Given the description of an element on the screen output the (x, y) to click on. 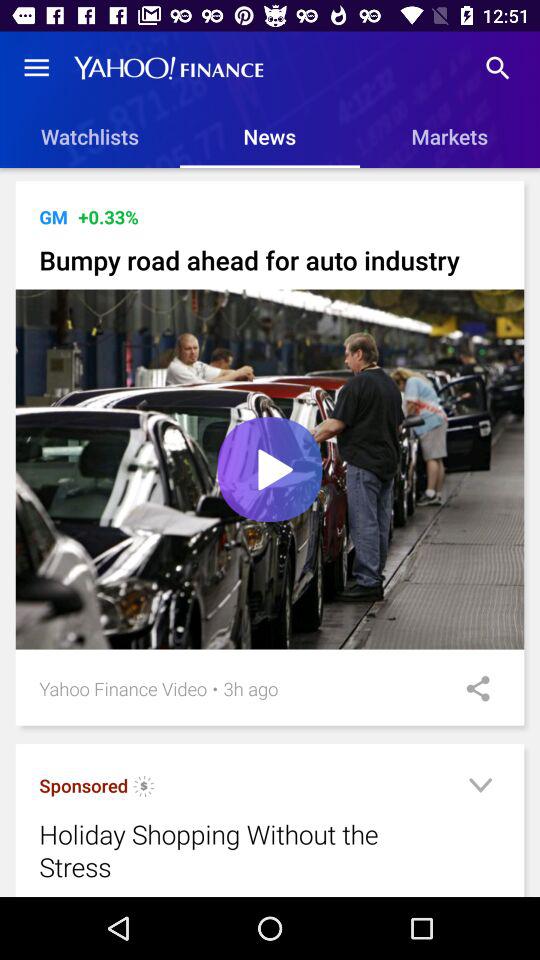
scroll to the gm icon (53, 216)
